Given the description of an element on the screen output the (x, y) to click on. 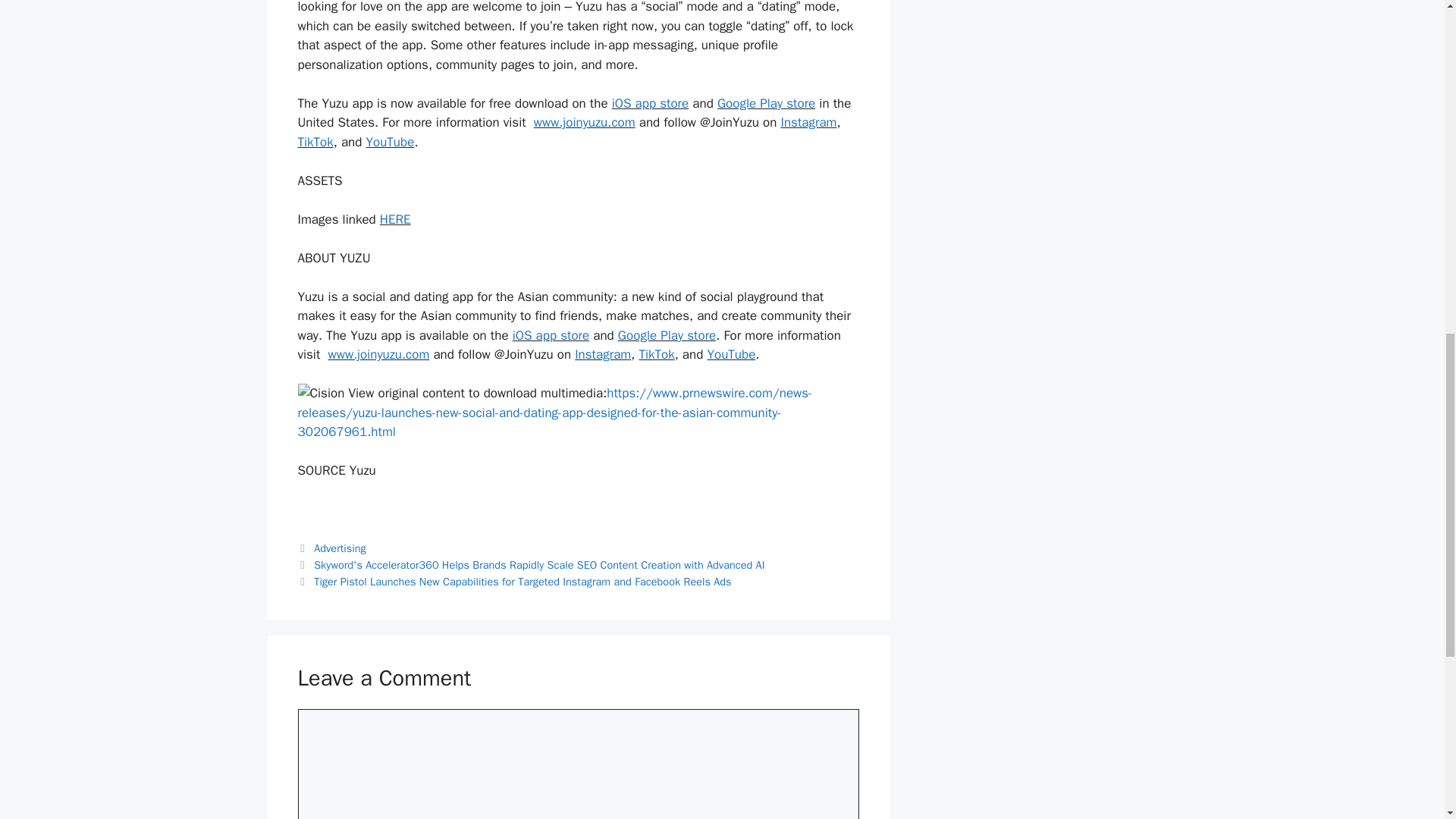
www.joinyuzu.com (584, 122)
TikTok (315, 141)
Scroll back to top (1406, 720)
Cision (320, 393)
www.joinyuzu.com (379, 354)
HERE (395, 219)
Instagram (602, 354)
Google Play store (766, 103)
Advertising (340, 548)
